Given the description of an element on the screen output the (x, y) to click on. 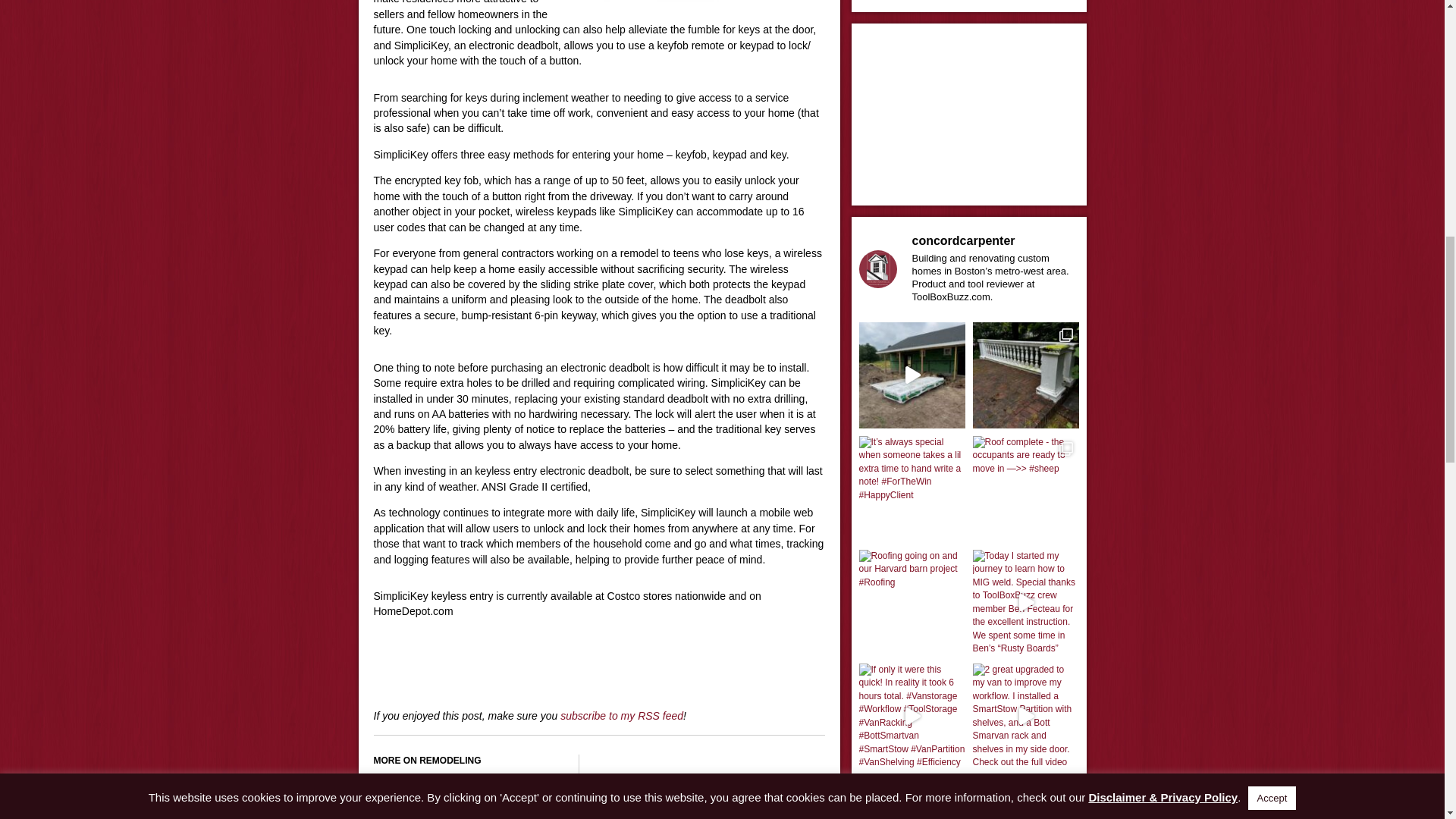
Making a Carpentry Template (449, 786)
subscribe to my RSS feed (621, 715)
What Contractors Should Do At The Gym (467, 813)
